Given the description of an element on the screen output the (x, y) to click on. 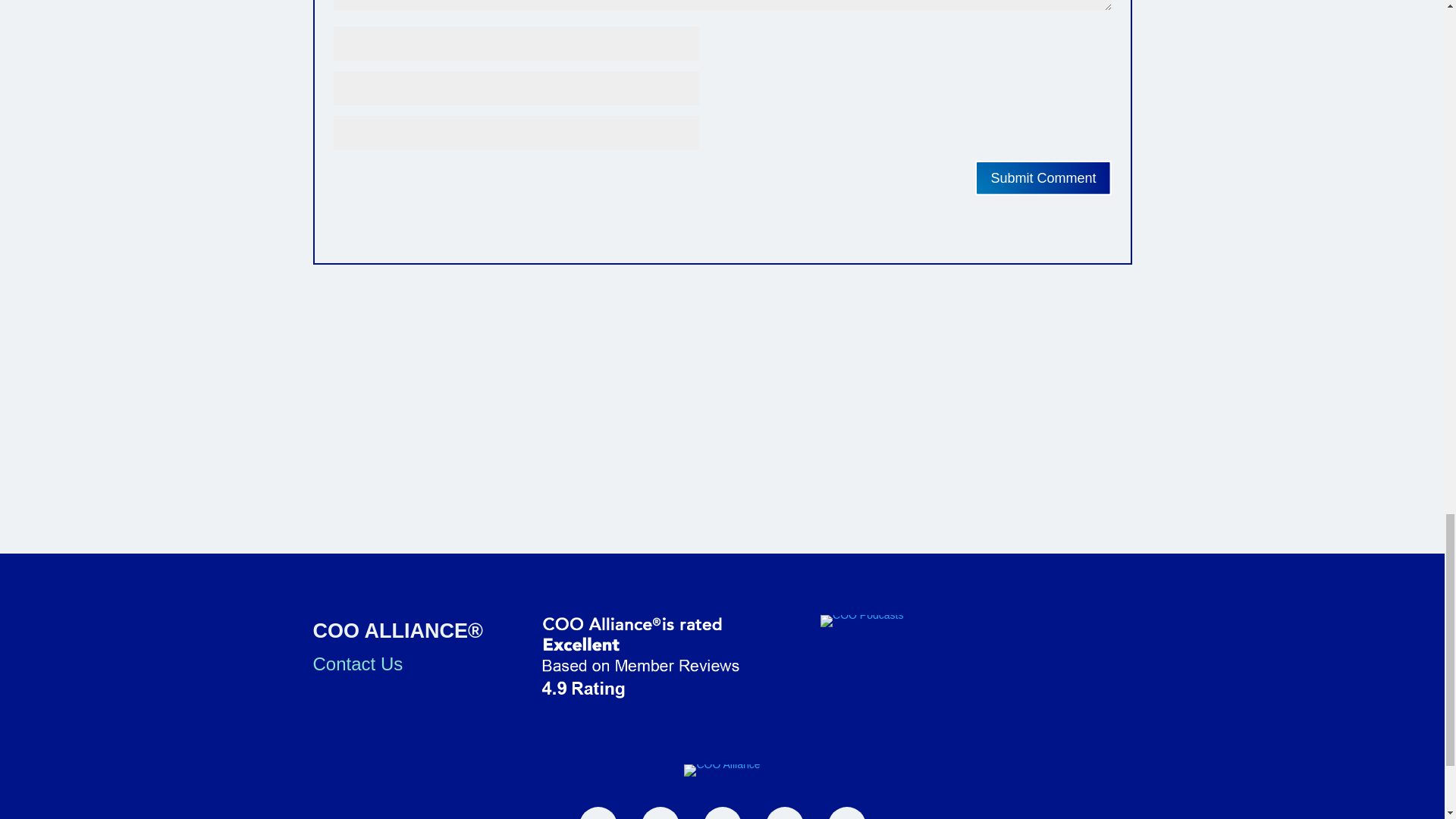
Follow on X (722, 812)
Follow on LinkedIn (660, 812)
cooa-review-rating-footer-01 (665, 658)
Follow on Instagram (847, 812)
sic-footer-01 (861, 621)
Follow on Facebook (598, 812)
Follow on Youtube (784, 812)
cooa-logo-footer-copyright (722, 770)
